Given the description of an element on the screen output the (x, y) to click on. 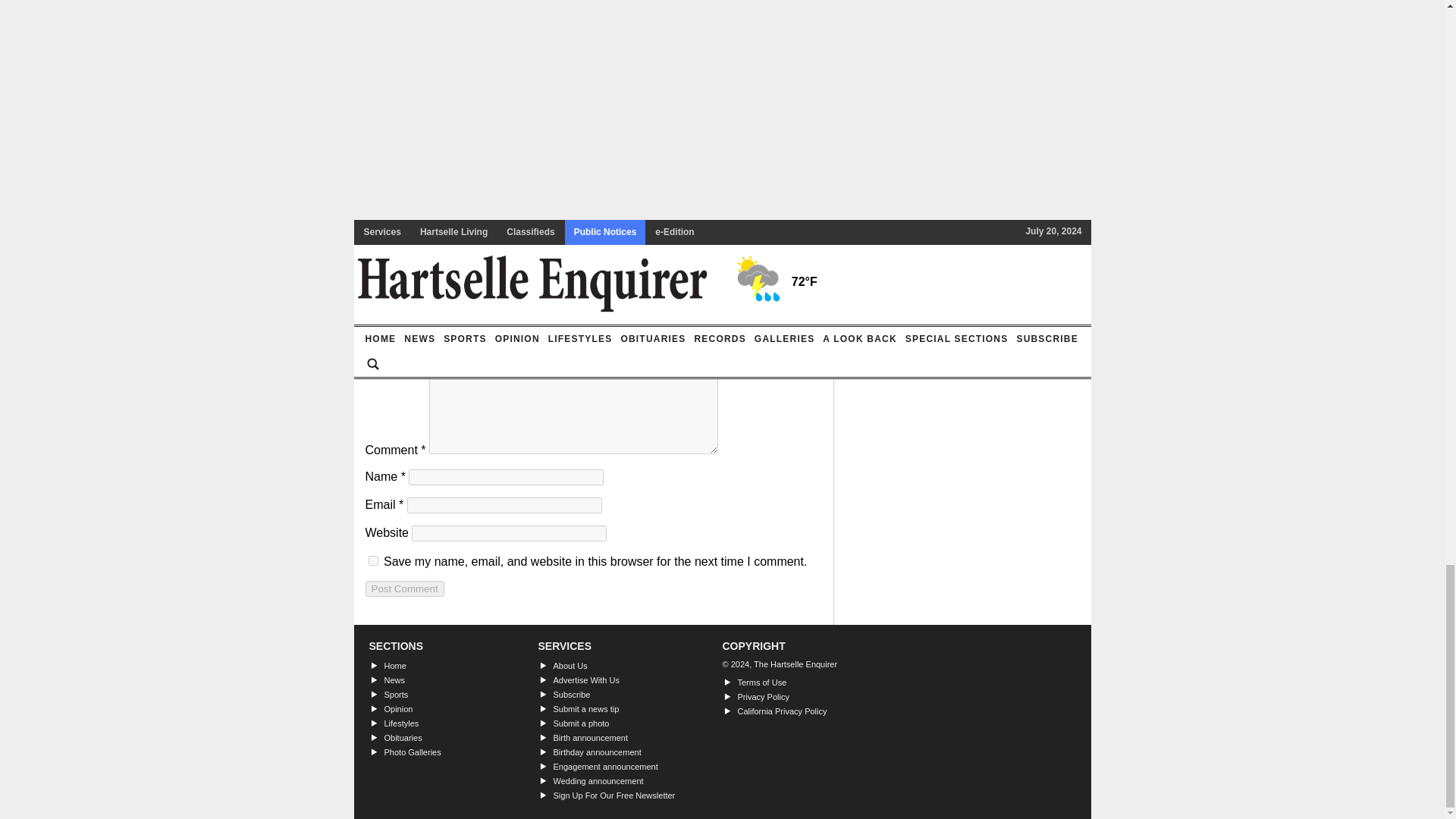
Post Comment (404, 588)
yes (373, 560)
